Given the description of an element on the screen output the (x, y) to click on. 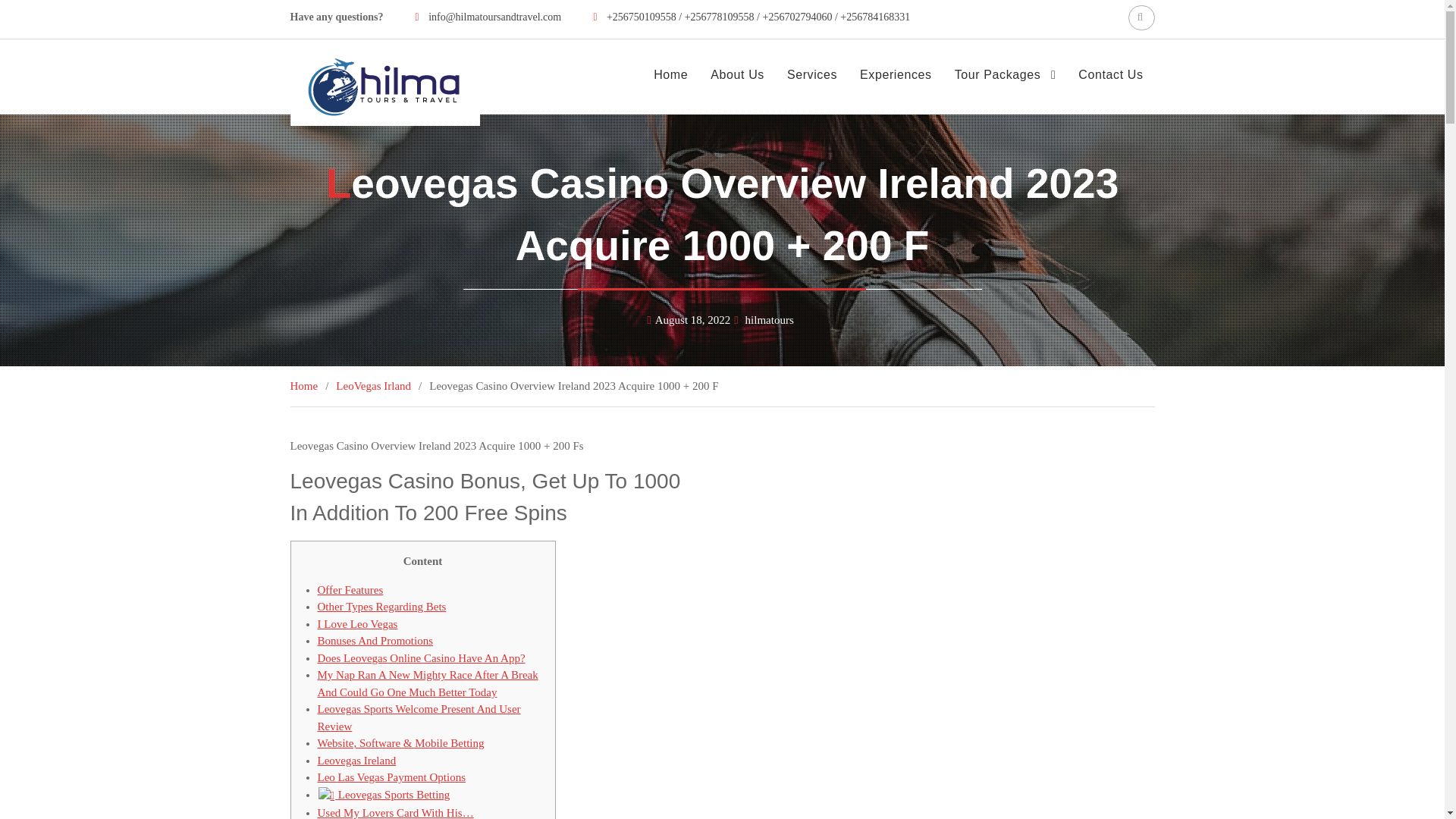
Contact Us (1110, 74)
hilmatours (769, 319)
Other Types Regarding Bets (381, 606)
Experiences (895, 74)
Services (811, 74)
Leo Las Vegas Payment Options (391, 776)
LeoVegas Irland (373, 386)
I Love Leo Vegas (357, 623)
Leovegas Ireland (356, 760)
Leovegas Sports Welcome Present And User Review (418, 717)
